Given the description of an element on the screen output the (x, y) to click on. 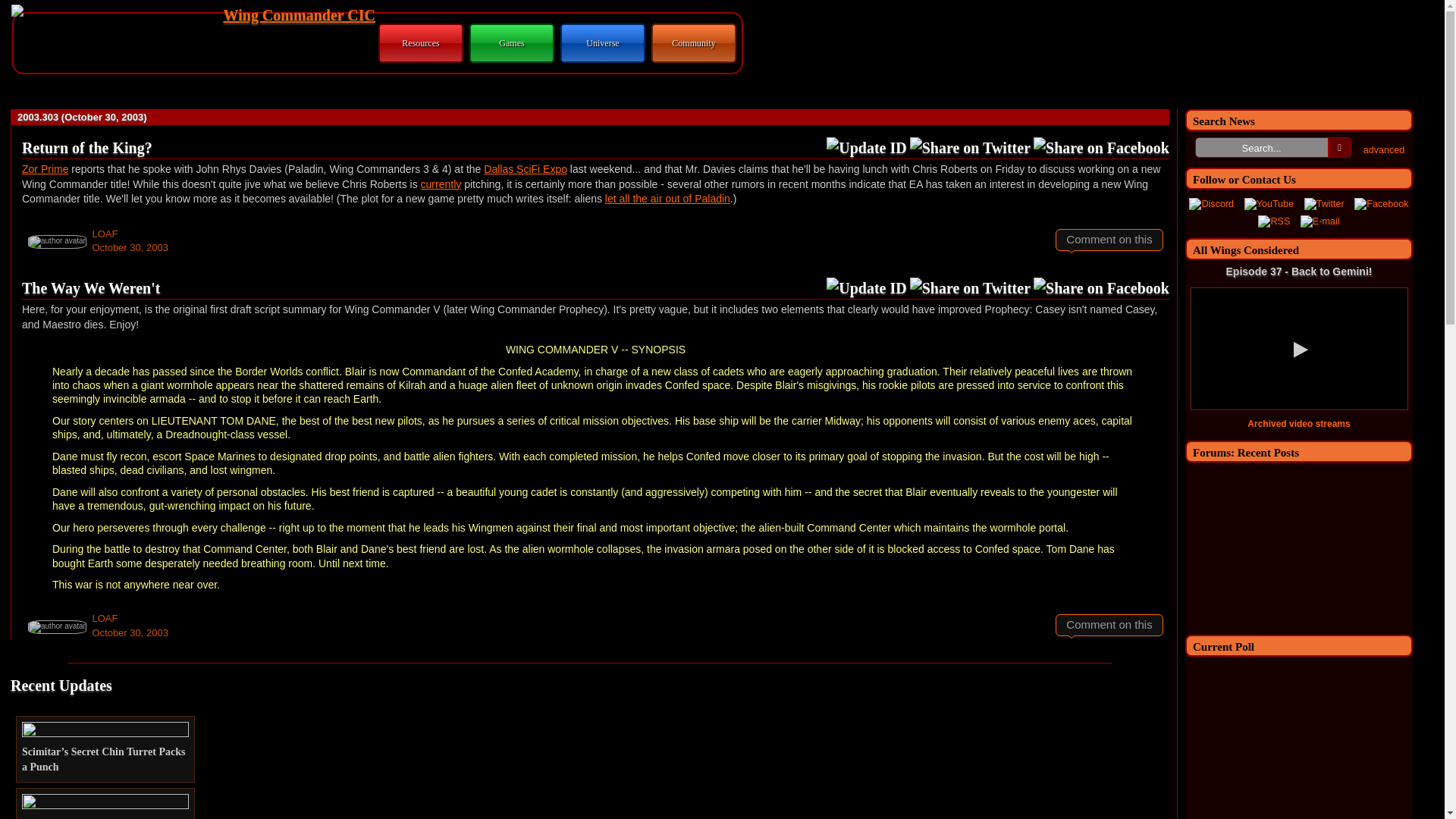
Share on Twitter (970, 147)
Follow us on Twitter (1323, 204)
Follow us on YouTube (1269, 204)
Share on Twitter (970, 287)
Follow us on Facebook (1380, 204)
Games (511, 42)
Resources (420, 42)
Discord chat with staff and fans (1211, 204)
Share on Facebook (1101, 287)
RSS news feed (1273, 222)
